Given the description of an element on the screen output the (x, y) to click on. 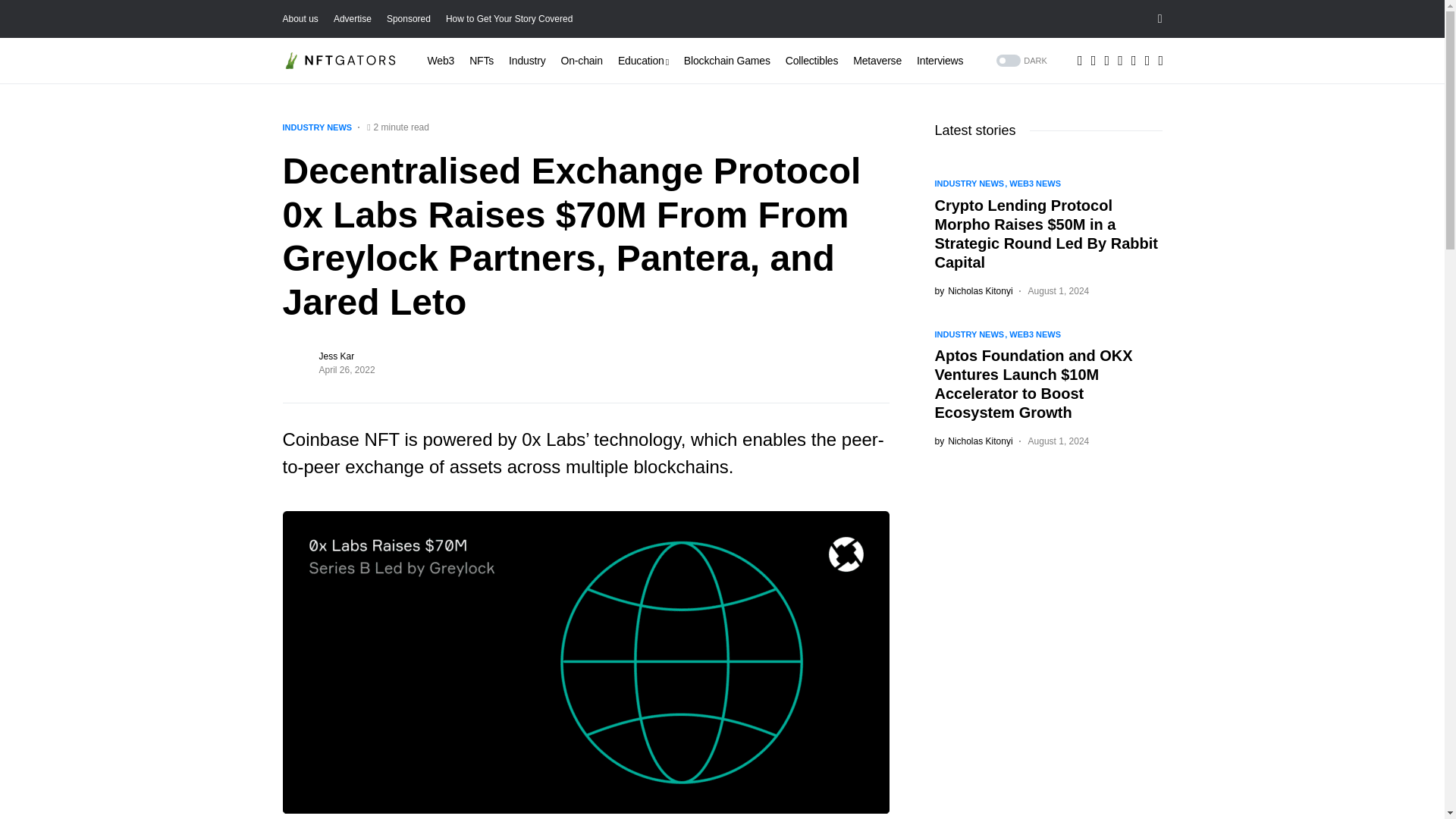
View all posts by Nicholas Kitonyi (972, 440)
View all posts by Nicholas Kitonyi (972, 290)
Metaverse (877, 60)
Interviews (939, 60)
Advertise (352, 18)
Education (642, 60)
On-chain (581, 60)
Sponsored (408, 18)
About us (299, 18)
How to Get Your Story Covered (508, 18)
Collectibles (812, 60)
Blockchain Games (727, 60)
